Given the description of an element on the screen output the (x, y) to click on. 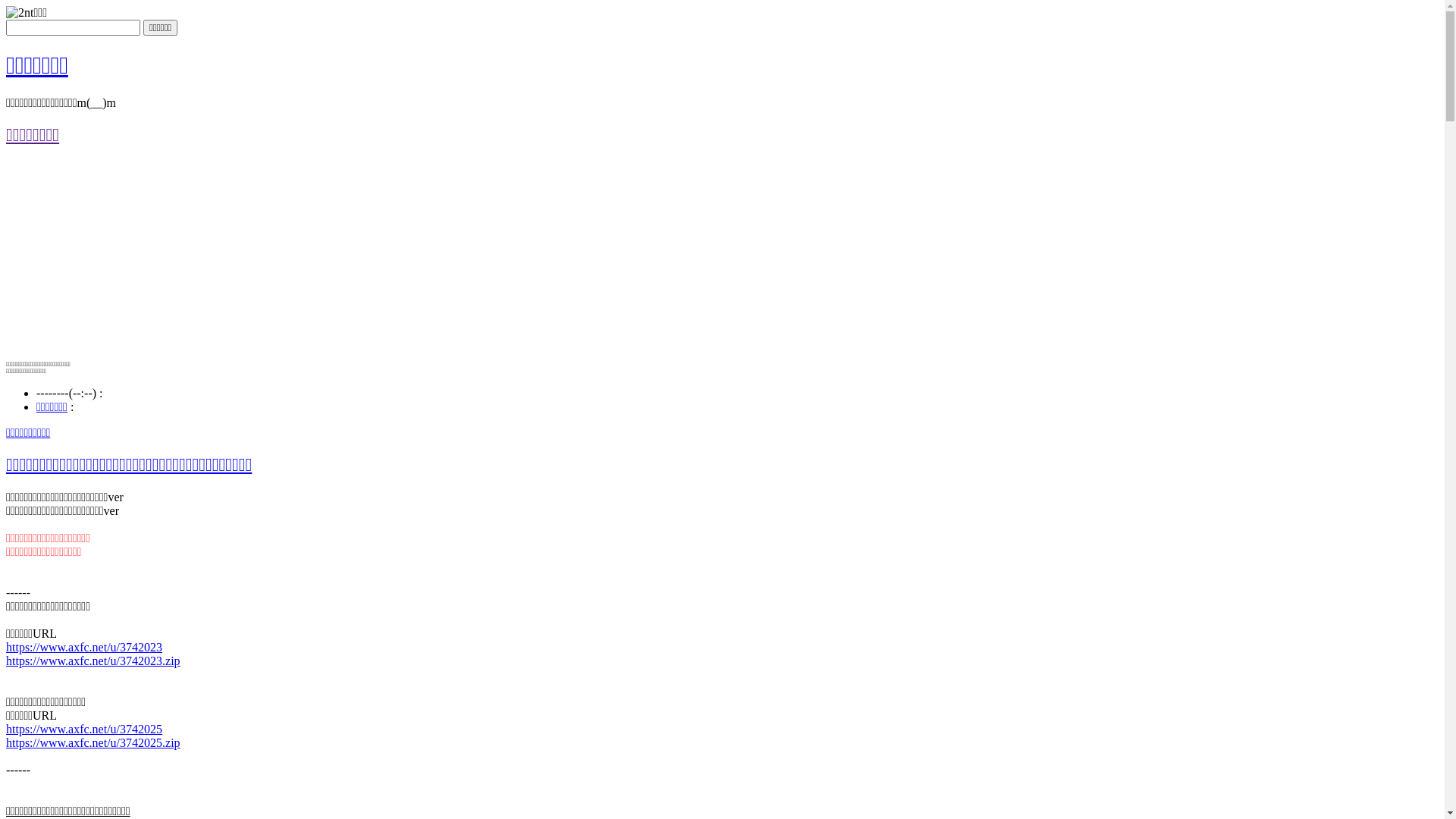
https://www.axfc.net/u/3742023 Element type: text (84, 646)
https://www.axfc.net/u/3742025.zip Element type: text (93, 741)
https://www.axfc.net/u/3742025 Element type: text (84, 727)
https://www.axfc.net/u/3742023.zip Element type: text (93, 659)
